Given the description of an element on the screen output the (x, y) to click on. 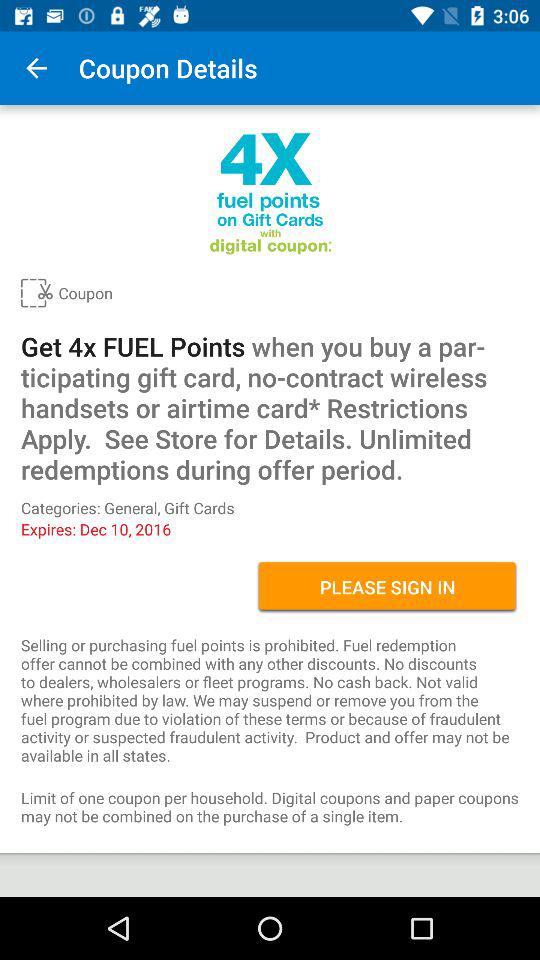
turn off the icon on the right (387, 587)
